Given the description of an element on the screen output the (x, y) to click on. 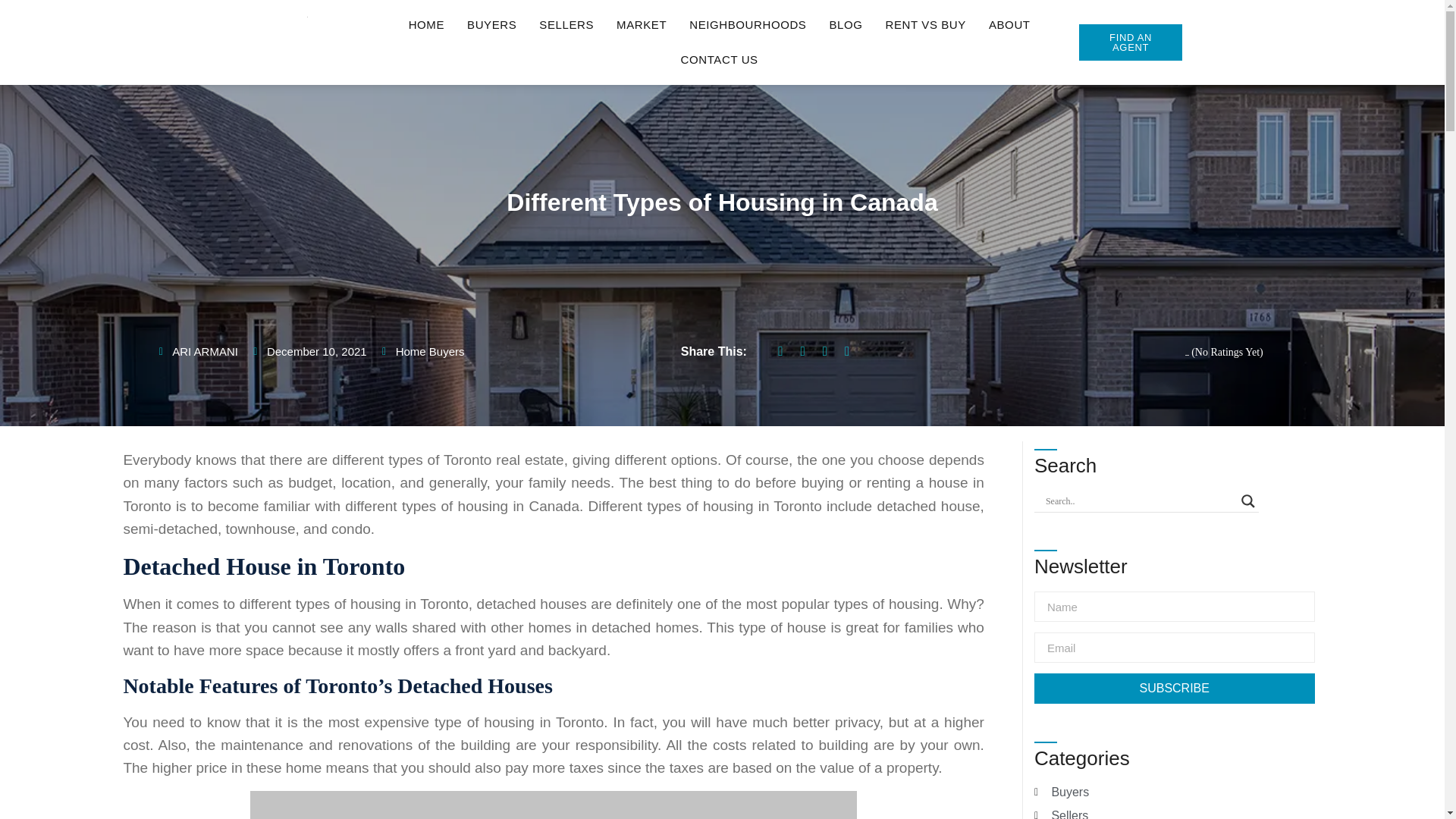
MARKET (641, 24)
HOME (426, 24)
BUYERS (491, 24)
BLOG (844, 24)
NEIGHBOURHOODS (747, 24)
SELLERS (566, 24)
ABOUT (1009, 24)
CONTACT US (719, 59)
RENT VS BUY (925, 24)
